Given the description of an element on the screen output the (x, y) to click on. 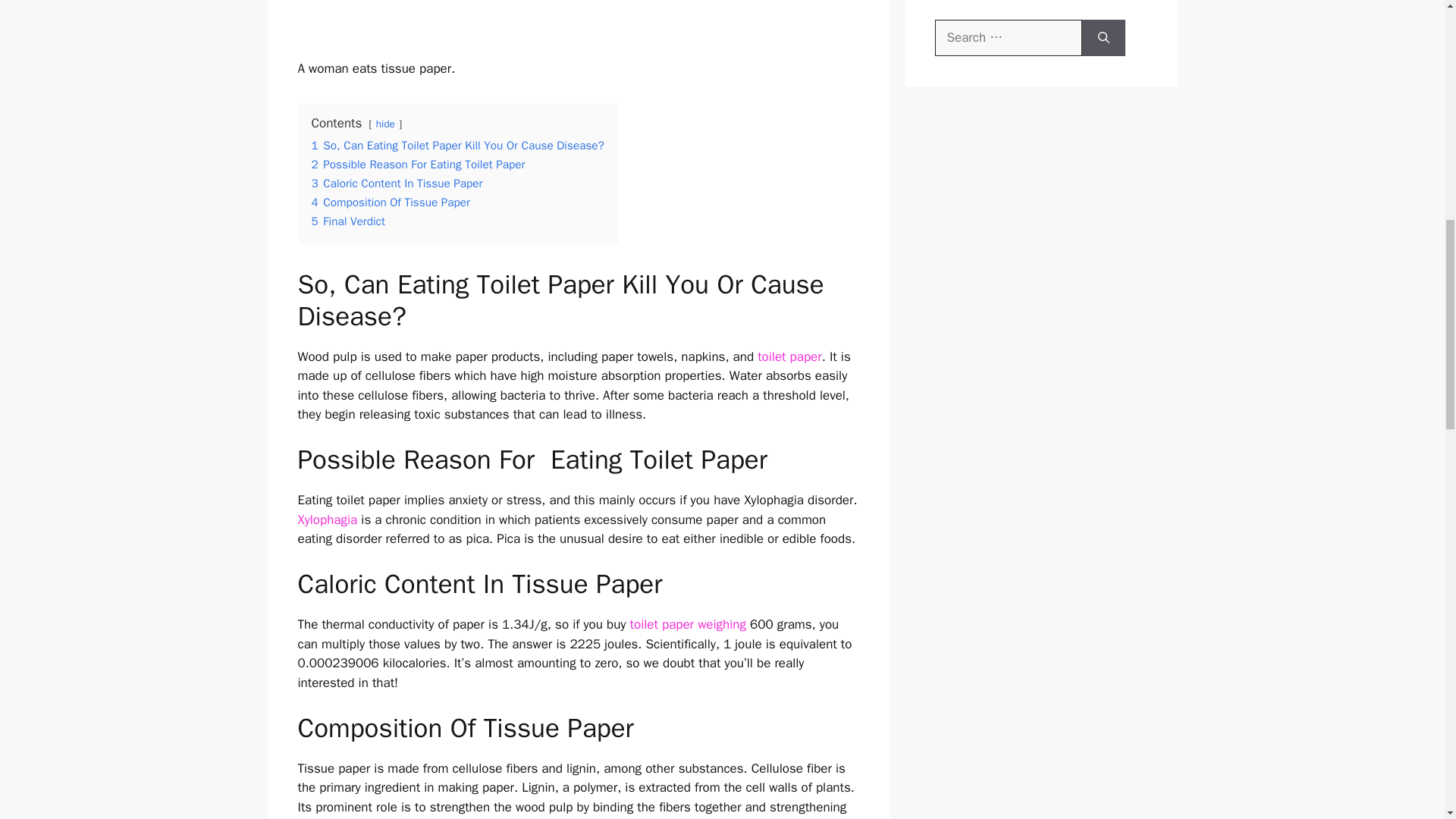
hide (384, 123)
Search for: (1007, 37)
toilet paper weighing (687, 624)
4 Composition Of Tissue Paper (389, 201)
Xylophagia (326, 519)
2 Possible Reason For Eating Toilet Paper (417, 164)
3 Caloric Content In Tissue Paper (396, 183)
5 Final Verdict (347, 221)
toilet paper (789, 356)
1 So, Can Eating Toilet Paper Kill You Or Cause Disease? (457, 145)
